Given the description of an element on the screen output the (x, y) to click on. 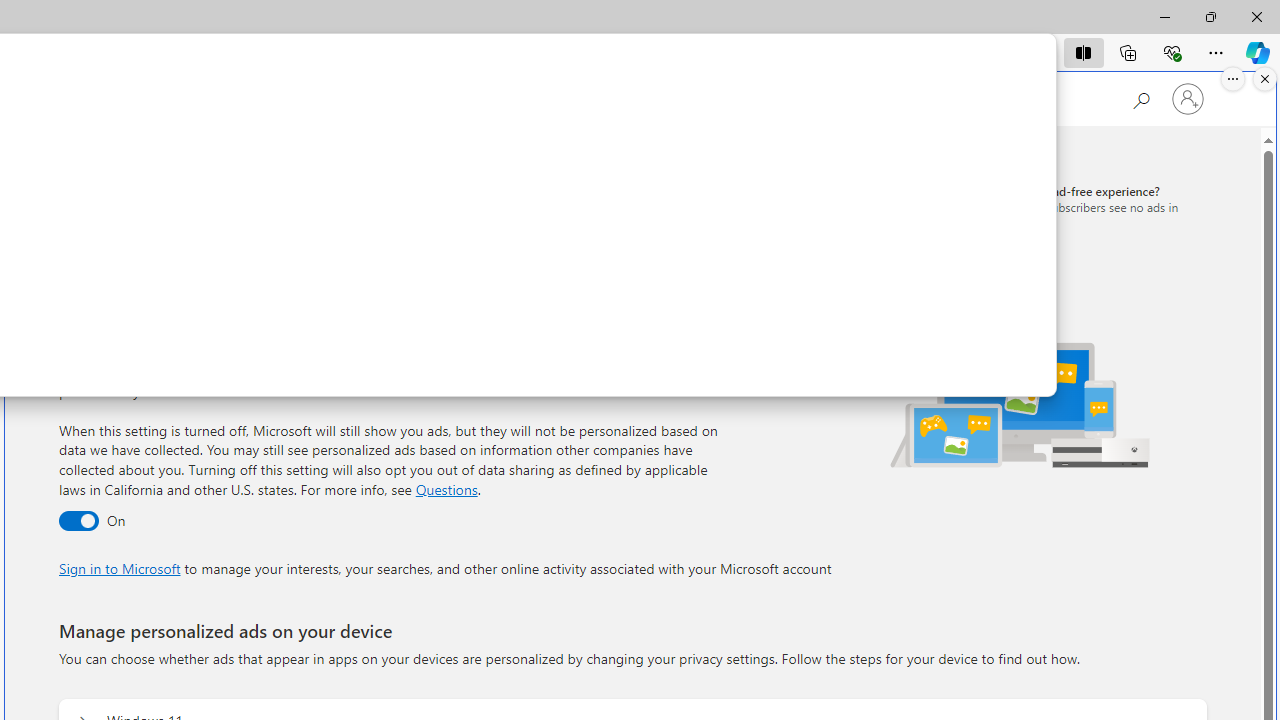
Microsoft (136, 99)
Ad settings toggle (78, 521)
Help (331, 96)
Illustration of multiple devices (1021, 403)
Privacy (112, 197)
Sign in to your account (1188, 98)
Search Microsoft.com (1140, 97)
Help (331, 96)
Account (264, 99)
Privacy (98, 197)
Ad settings (236, 197)
